Given the description of an element on the screen output the (x, y) to click on. 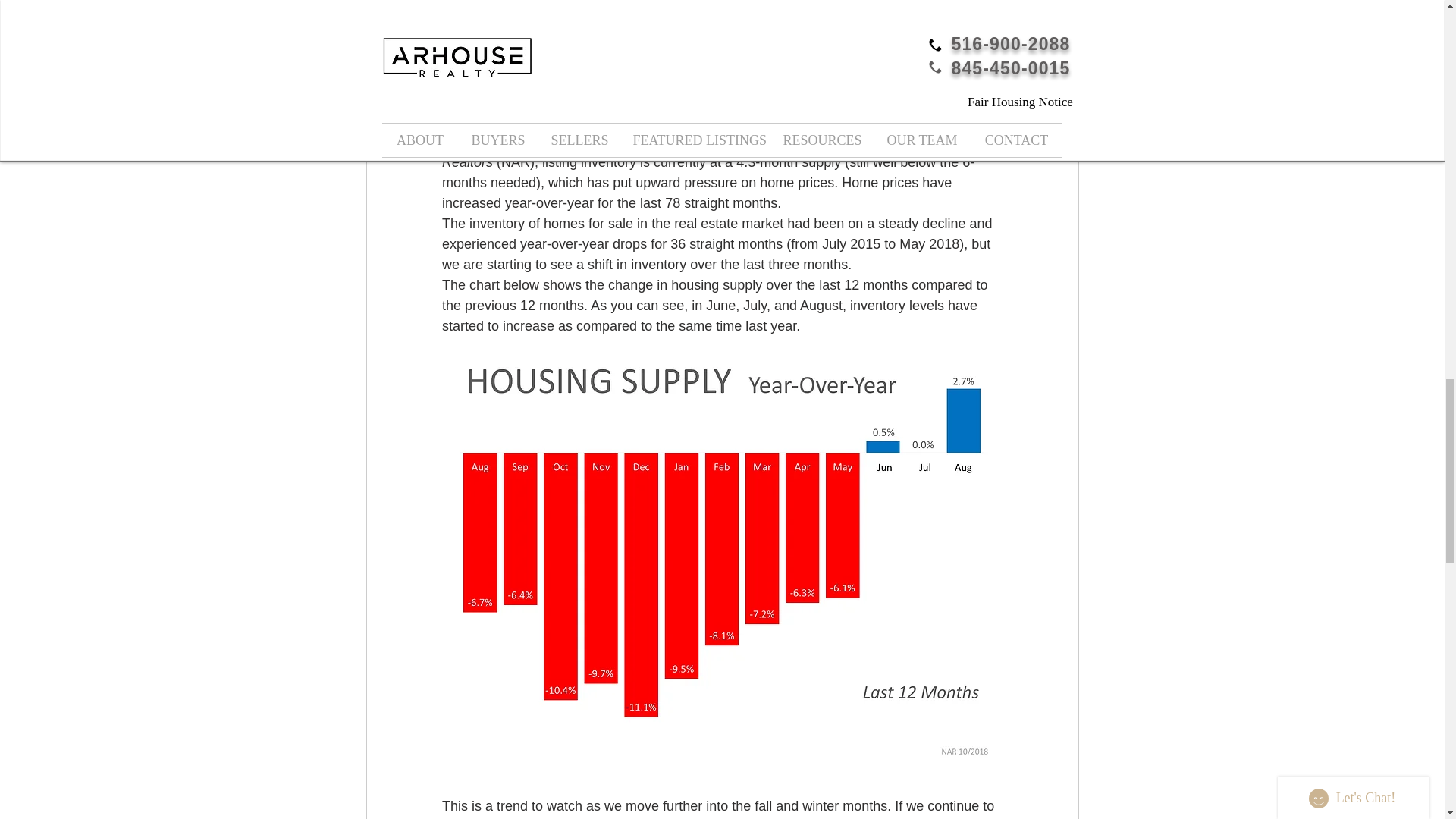
predict (796, 57)
